Given the description of an element on the screen output the (x, y) to click on. 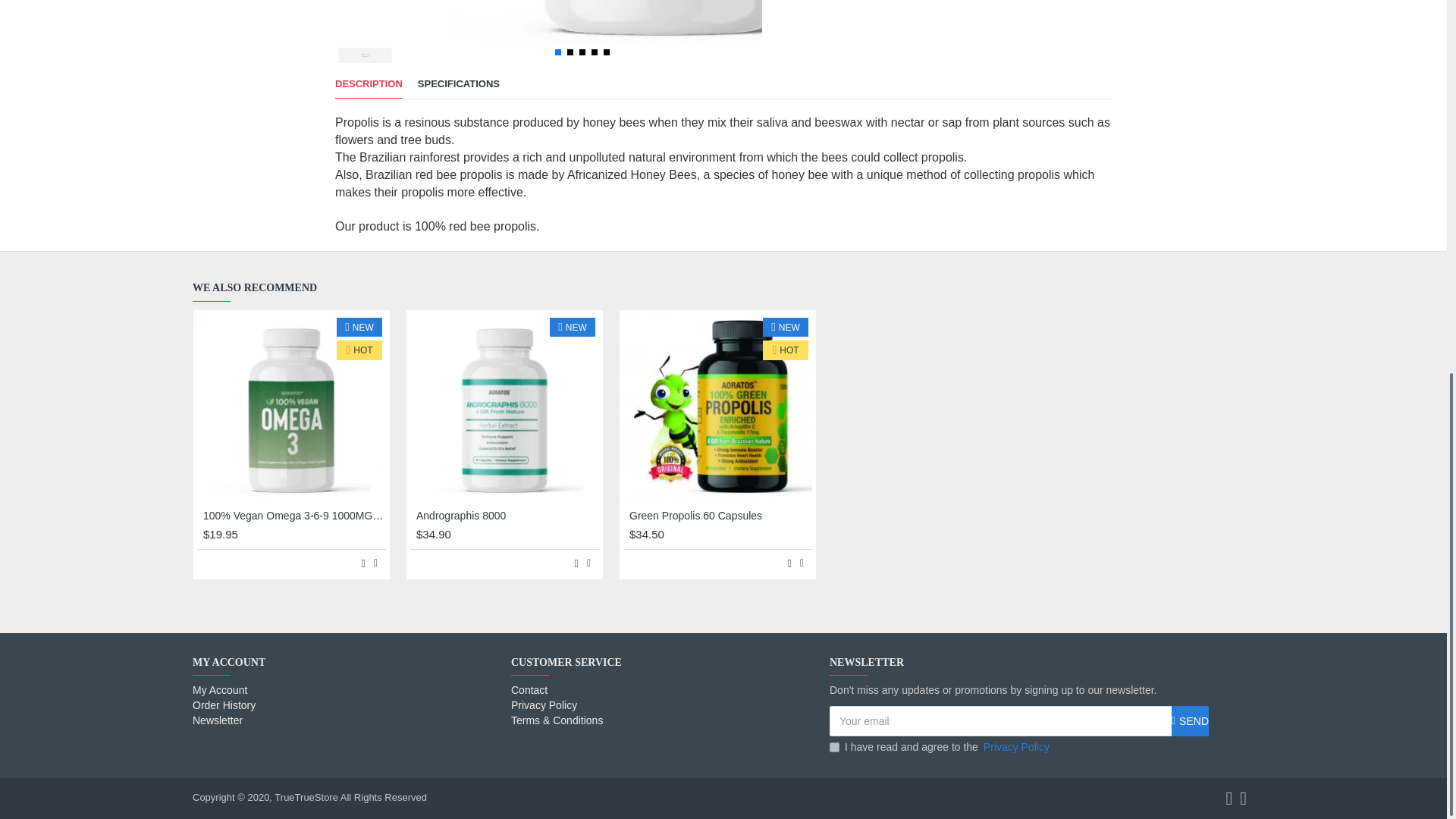
1 (834, 747)
